Given the description of an element on the screen output the (x, y) to click on. 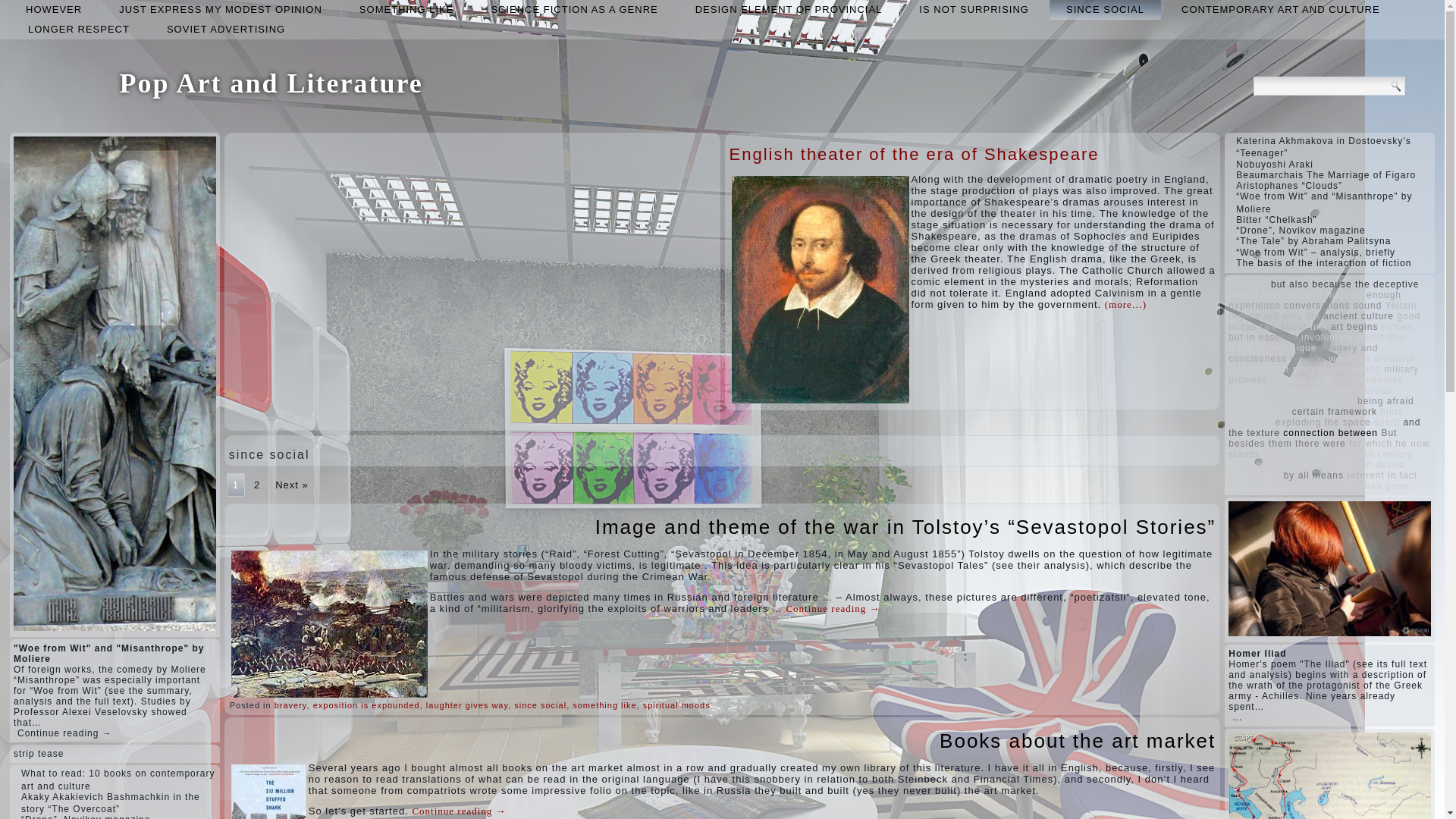
English theater of the era of Shakespeare (914, 153)
SCIENCE FICTION AS A GENRE (574, 9)
Pop Art and Literature (270, 82)
Soviet advertising (225, 29)
IS NOT SURPRISING (973, 9)
something like (406, 9)
LONGER RESPECT (79, 29)
SOMETHING LIKE (406, 9)
longer respect (79, 29)
contemporary art and culture (1280, 9)
DESIGN ELEMENT OF PROVINCIAL (788, 9)
SINCE SOCIAL (1104, 9)
JUST EXPRESS MY MODEST OPINION (220, 9)
design element of provincial (788, 9)
however (53, 9)
